Given the description of an element on the screen output the (x, y) to click on. 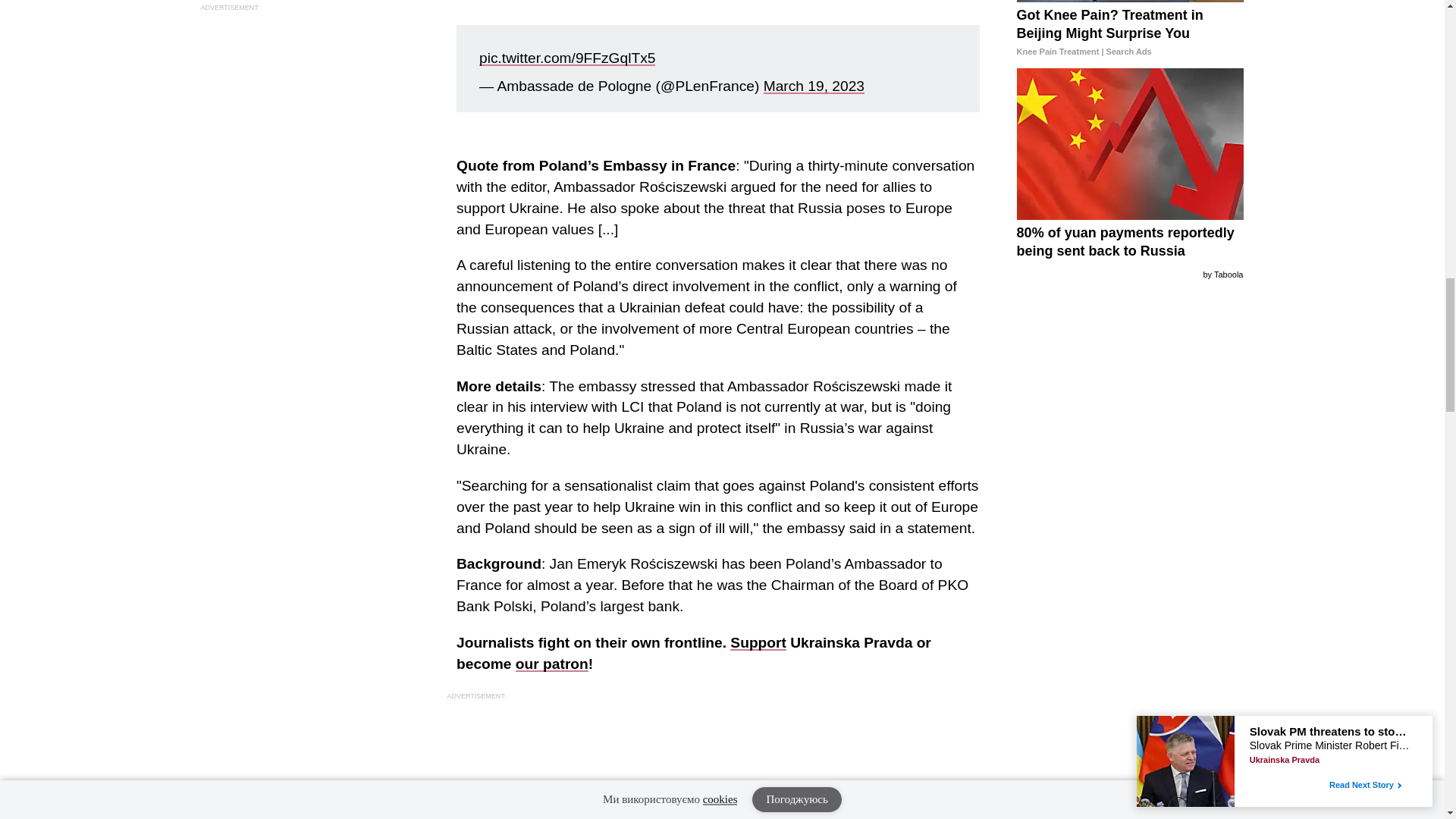
March 19, 2023 (813, 85)
Support (758, 642)
our patron (551, 663)
